Given the description of an element on the screen output the (x, y) to click on. 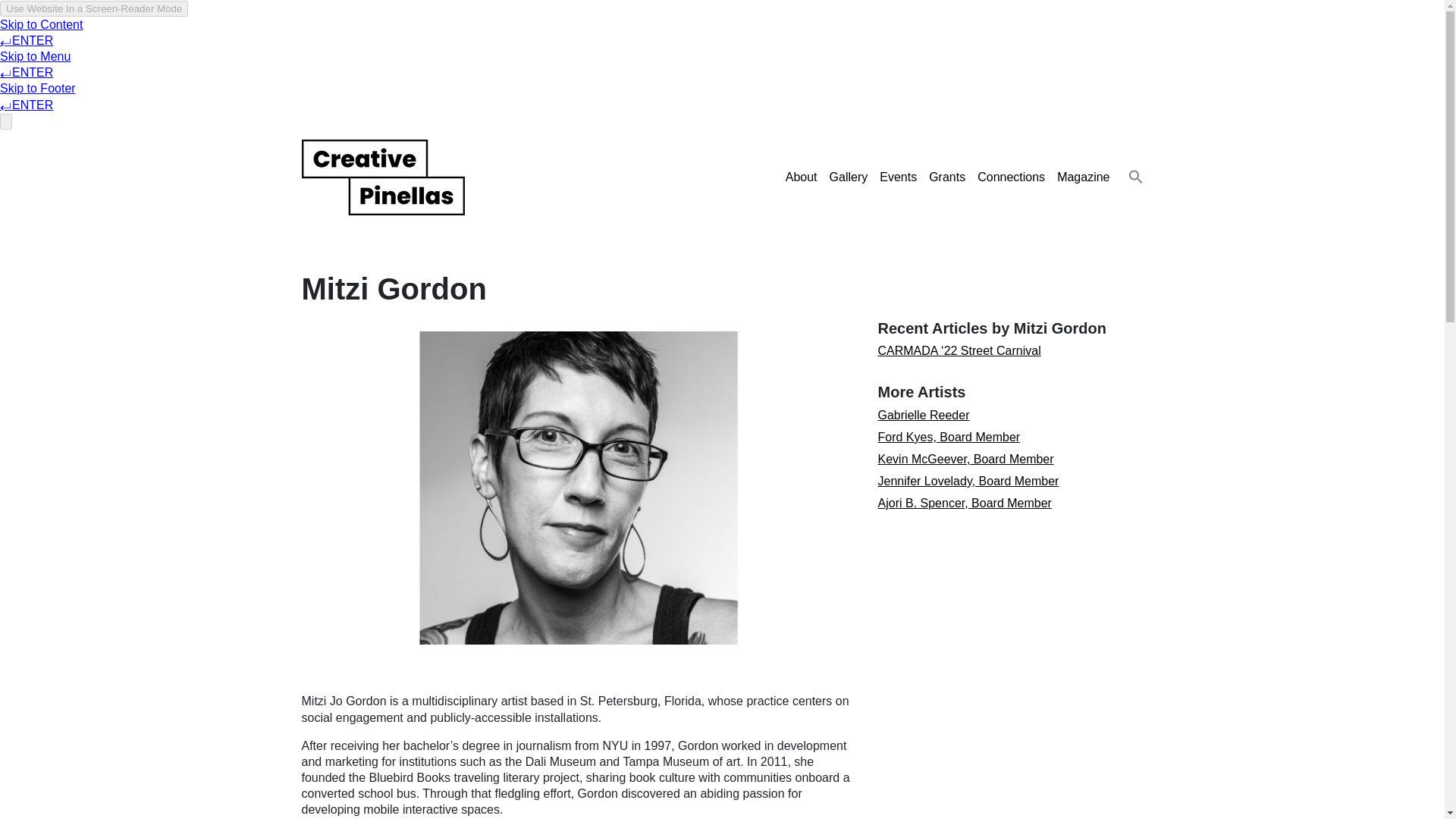
Gallery (849, 176)
Magazine (1083, 176)
Kevin McGeever, Board Member (965, 459)
About (801, 176)
About (801, 176)
Gallery (849, 176)
Events (898, 176)
Grants (947, 176)
Gabrielle Reeder (923, 414)
Ajori B. Spencer, Board Member (964, 502)
